Given the description of an element on the screen output the (x, y) to click on. 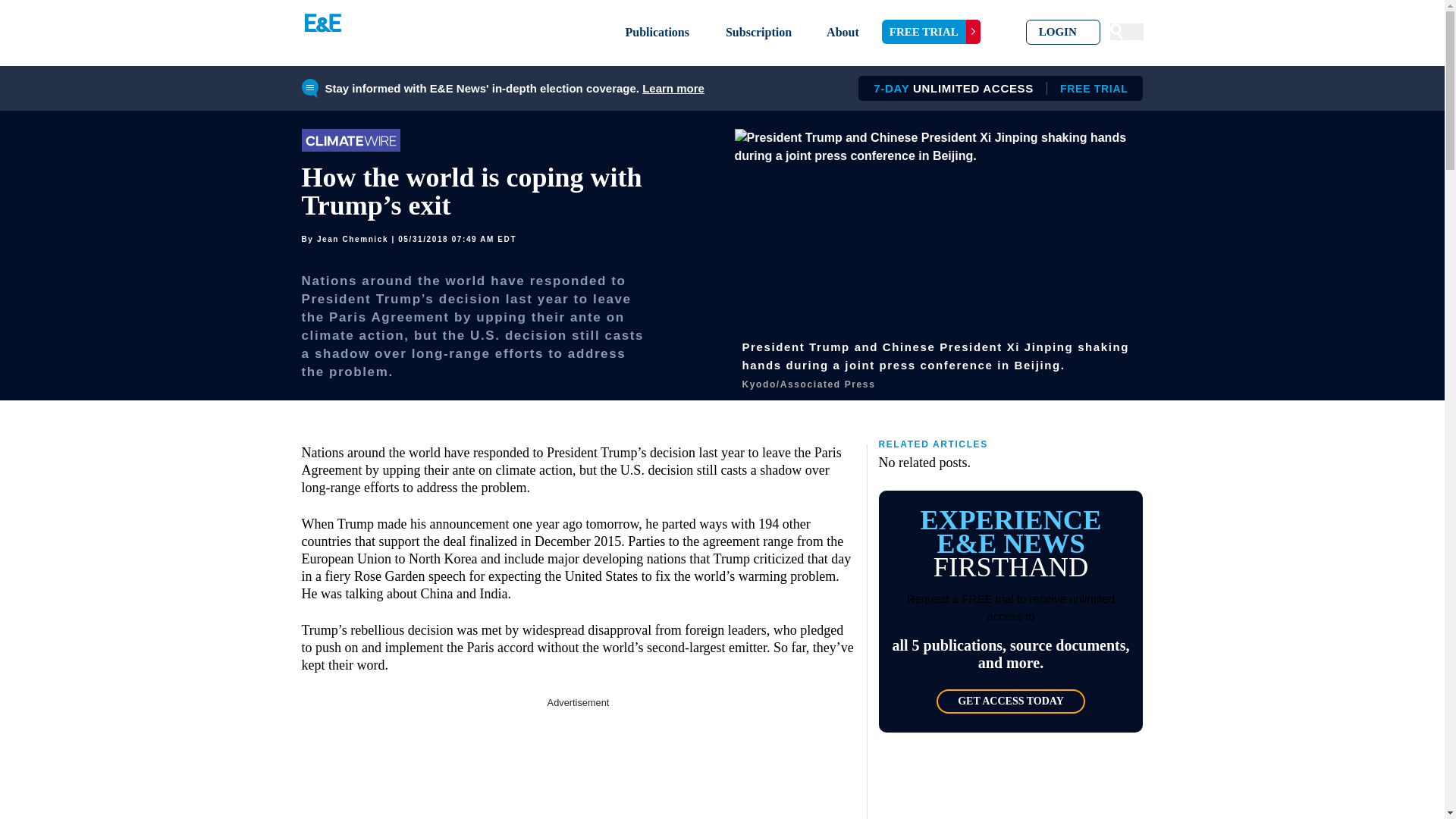
LOGIN (994, 88)
Subscription (1063, 32)
3rd party ad content (758, 32)
Publications (577, 764)
Learn more (656, 32)
GET ACCESS TODAY (673, 88)
About (1010, 701)
Skip to primary navigation (843, 32)
